Given the description of an element on the screen output the (x, y) to click on. 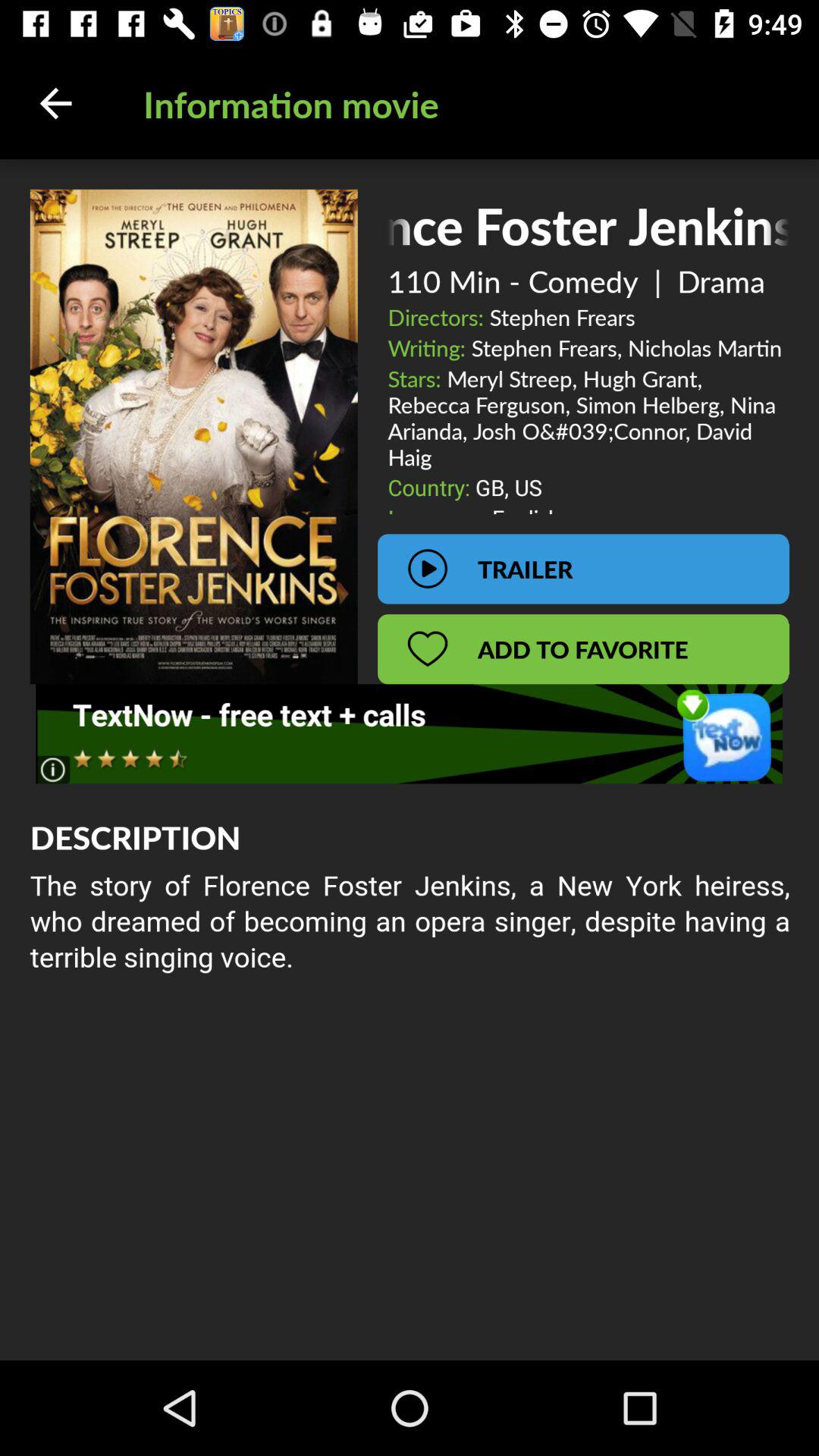
adverisment (408, 733)
